Given the description of an element on the screen output the (x, y) to click on. 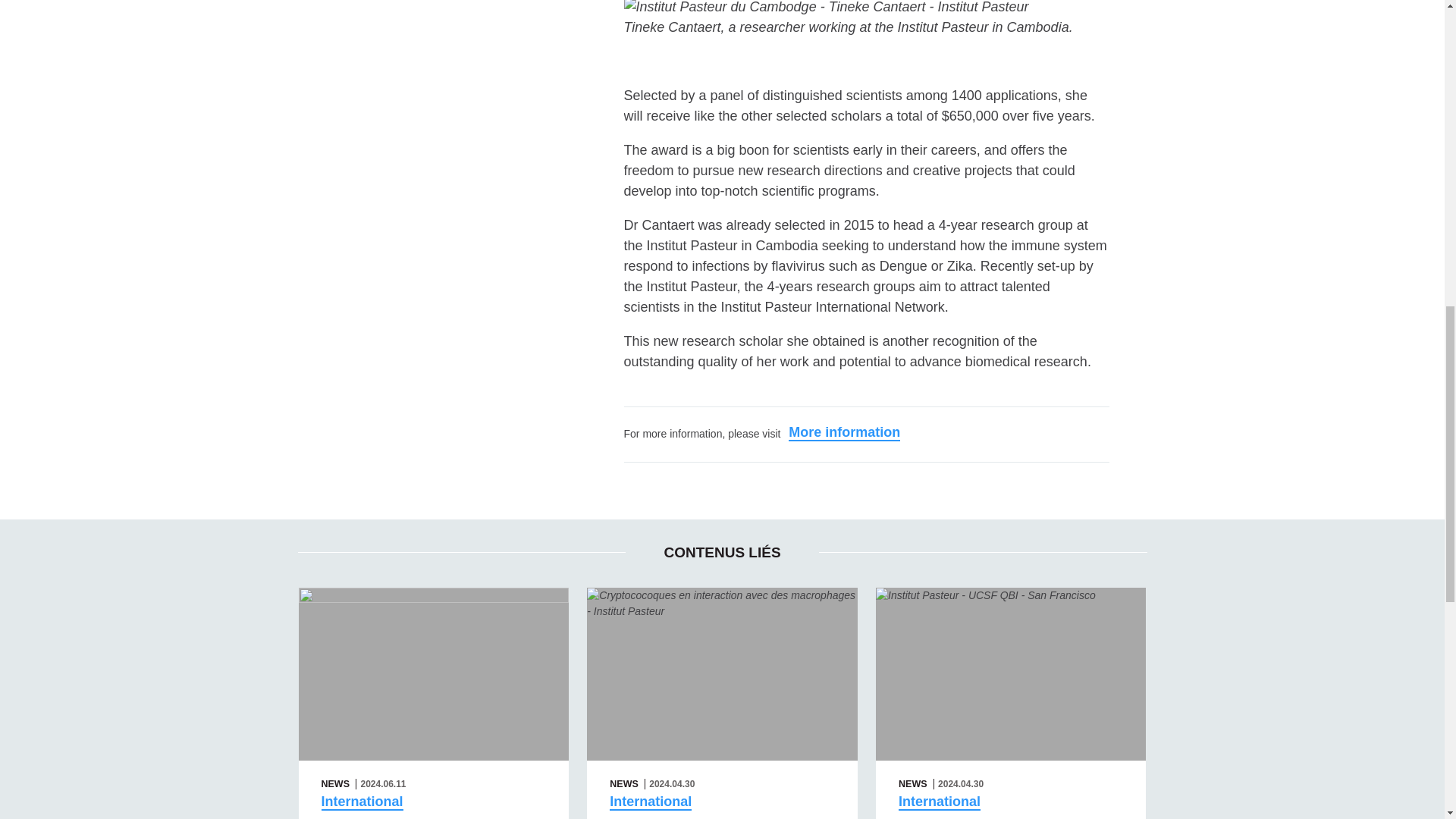
Institut Pasteur - UCSF QBI - San Francisco (1010, 673)
